Given the description of an element on the screen output the (x, y) to click on. 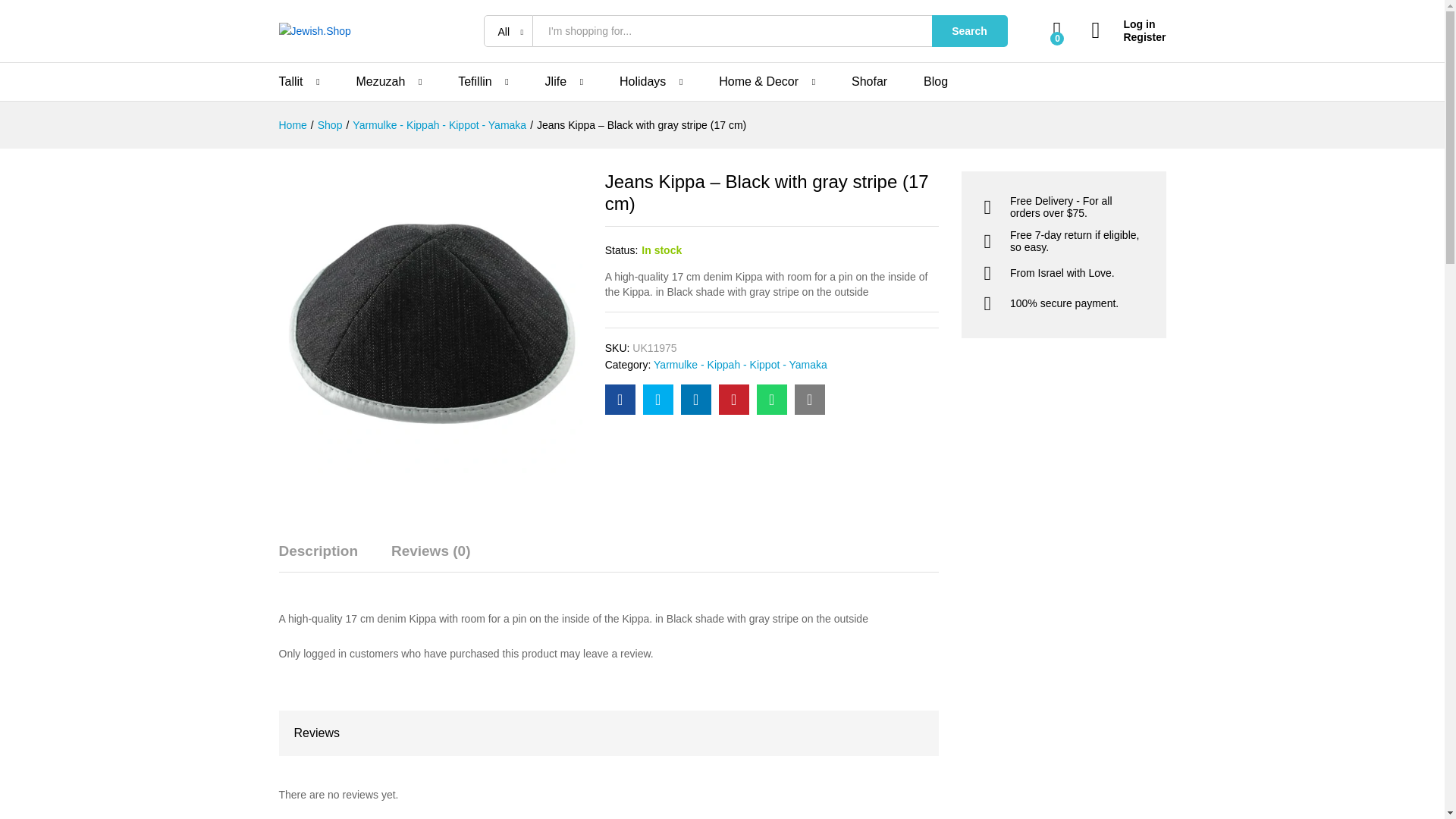
Mezuzah (379, 81)
Register (1128, 37)
Holidays (642, 81)
Tefillin (475, 81)
11975.jpg (430, 323)
Tallit (290, 81)
Search (969, 30)
Log in (1128, 24)
Jlife (555, 81)
